Given the description of an element on the screen output the (x, y) to click on. 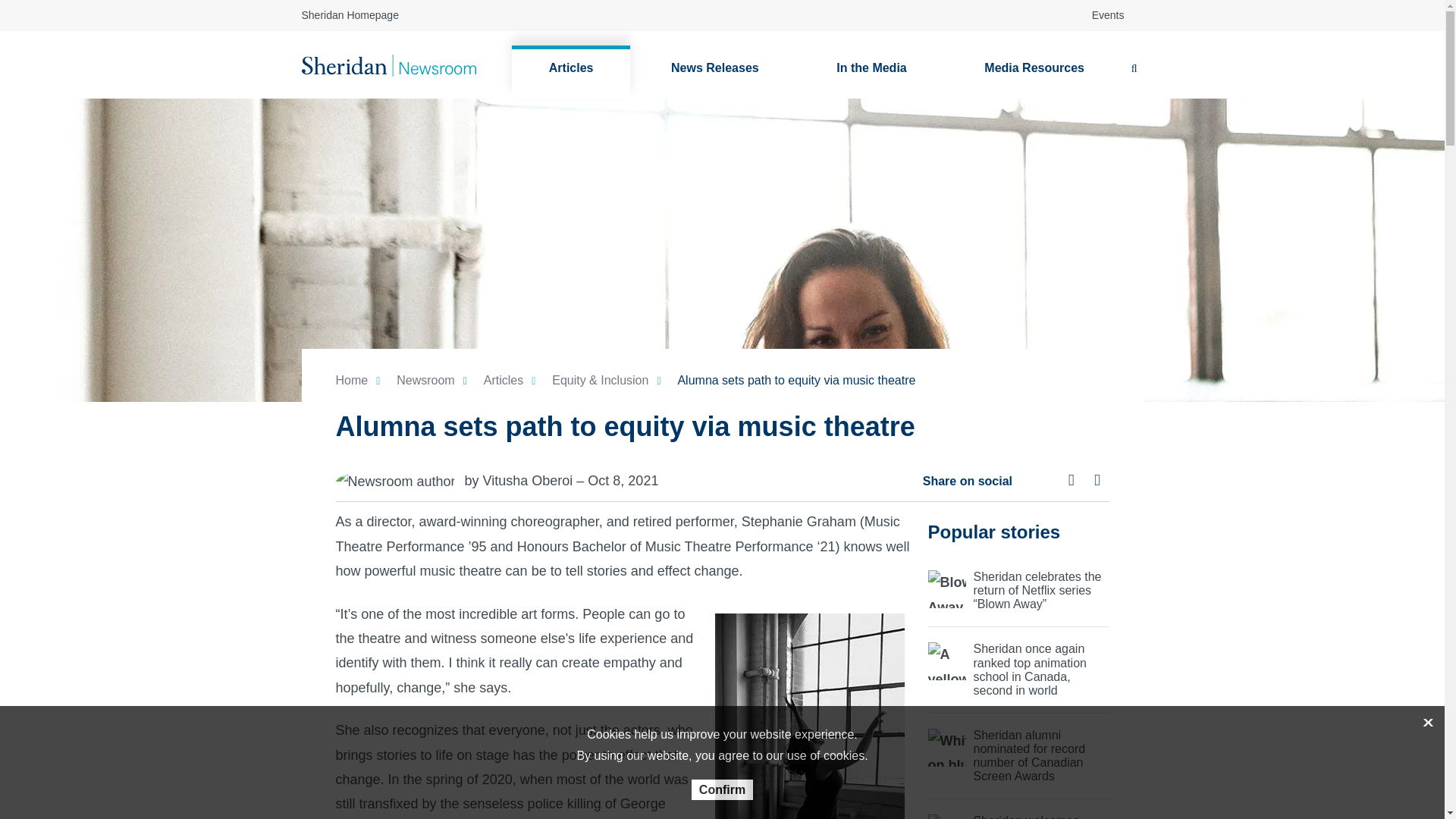
articles (502, 379)
Articles (571, 71)
Media Resources (1034, 71)
Home (351, 379)
Home (351, 379)
sheridan-spring-open-house-2024 (1018, 816)
Articles (571, 71)
equity-inclusion (599, 379)
Alumna sets path to equity via music theatre (796, 379)
Newsroom header logo (388, 64)
